Given the description of an element on the screen output the (x, y) to click on. 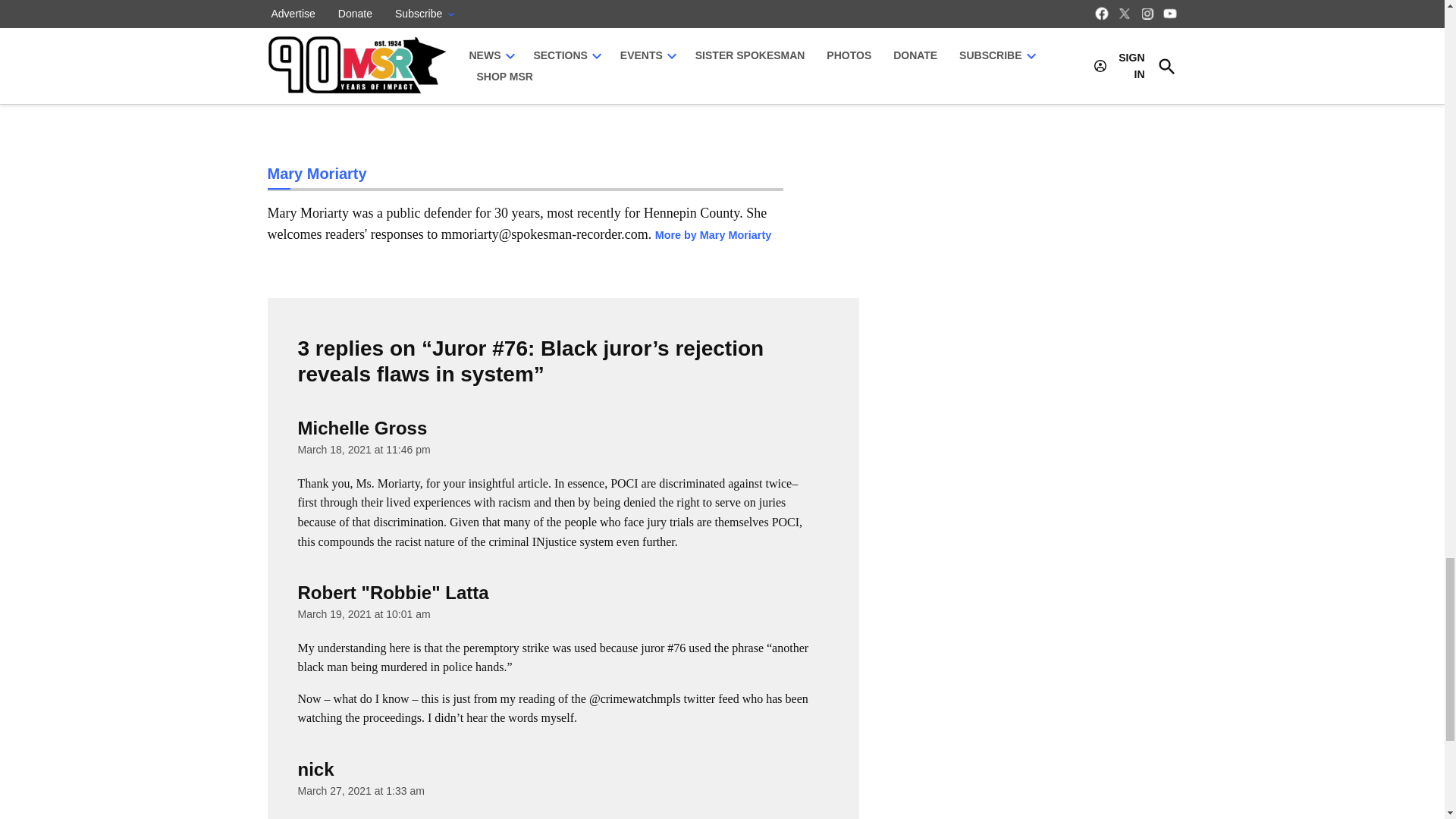
March 18, 2021 at 11:46 pm (363, 449)
March 27, 2021 at 1:33 am (360, 790)
March 19, 2021 at 10:01 am (363, 613)
